Given the description of an element on the screen output the (x, y) to click on. 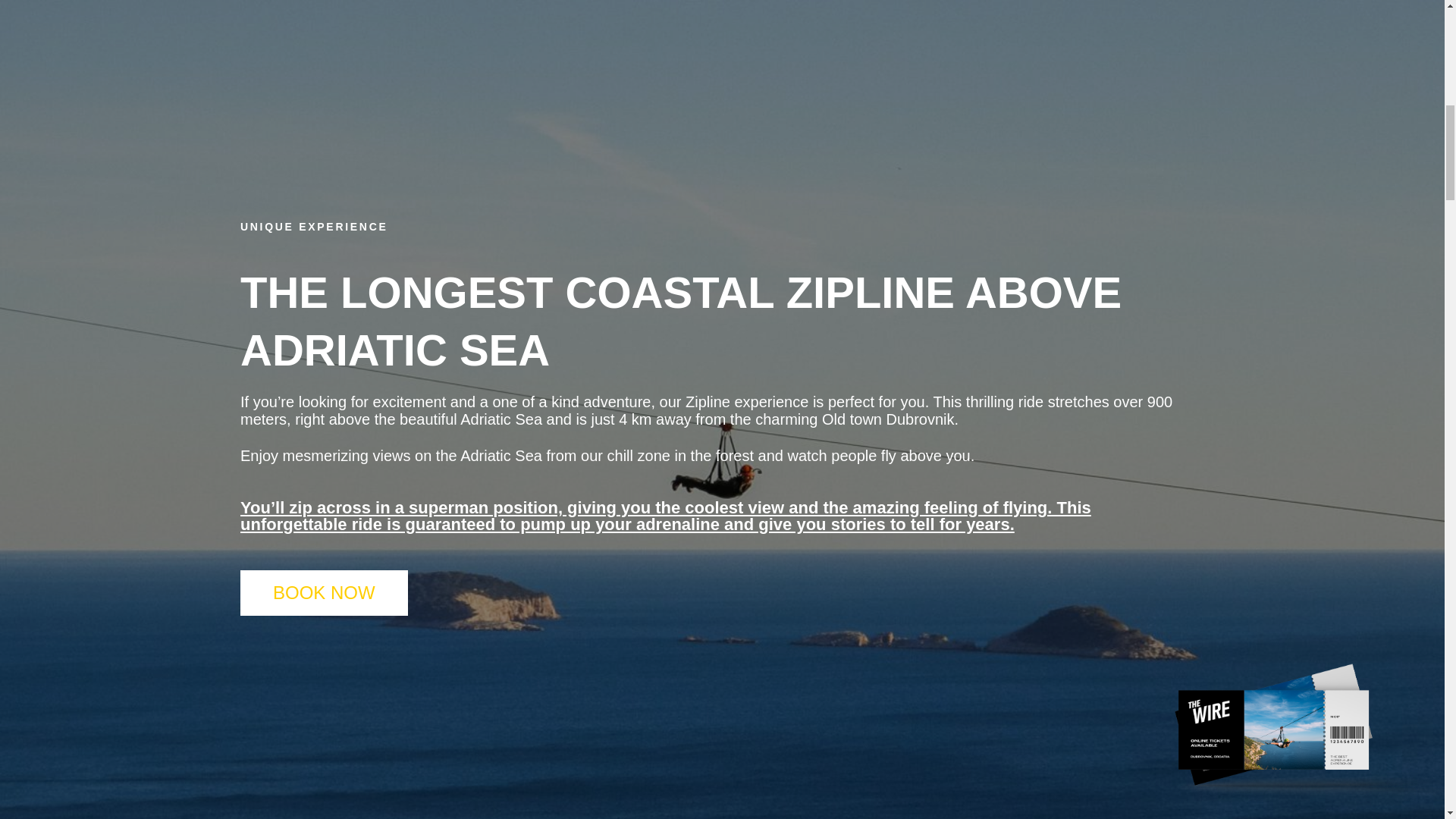
BOOK NOW (323, 592)
